Given the description of an element on the screen output the (x, y) to click on. 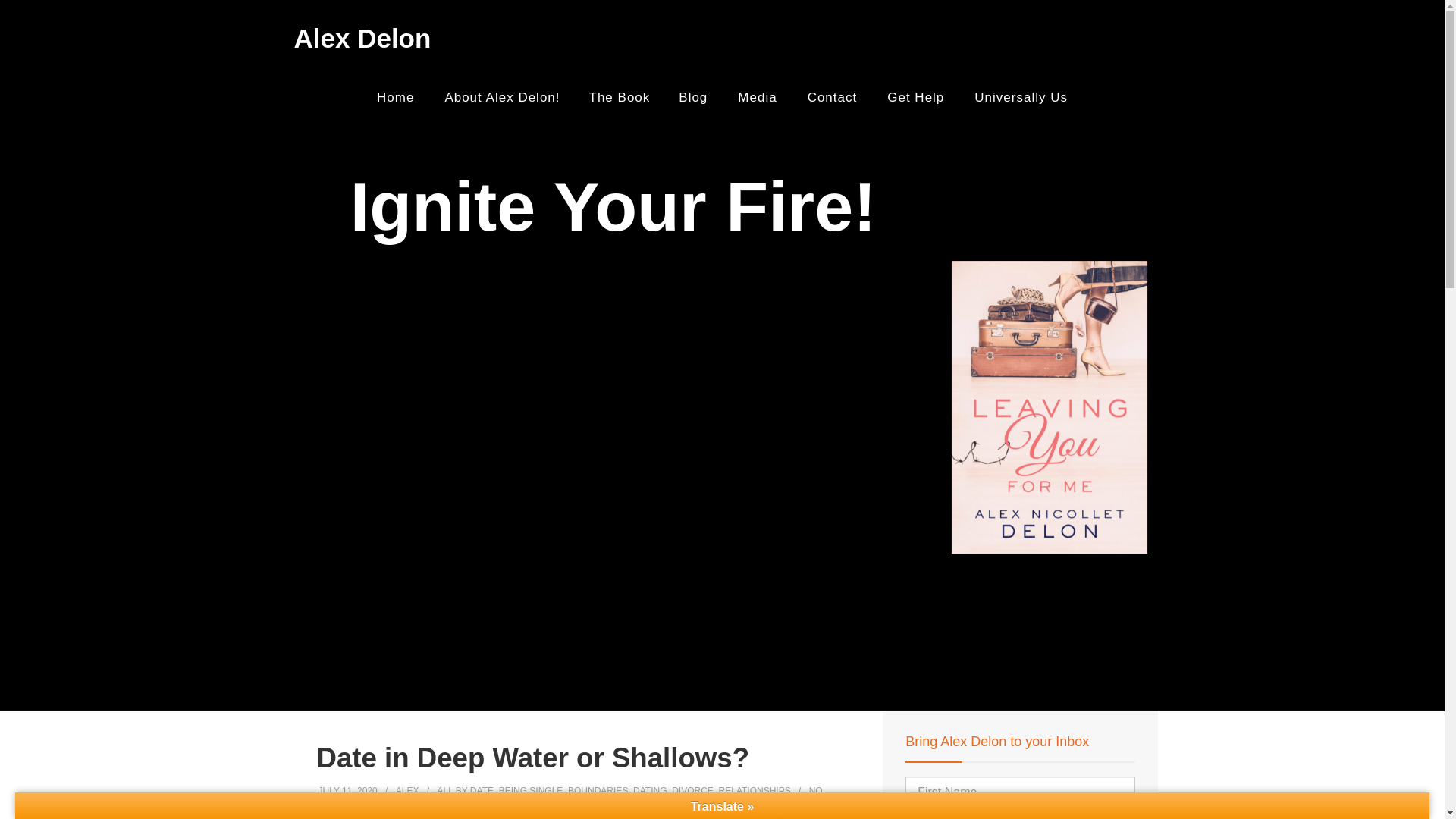
DATING (649, 790)
Contact (832, 96)
Blog (692, 96)
Alex Delon (362, 38)
View all posts by Alex (407, 790)
About Alex Delon! (501, 96)
Date in Deep Water or Shallows? (533, 757)
The Book (618, 96)
BEING SINGLE (531, 790)
Universally Us (1021, 96)
